Given the description of an element on the screen output the (x, y) to click on. 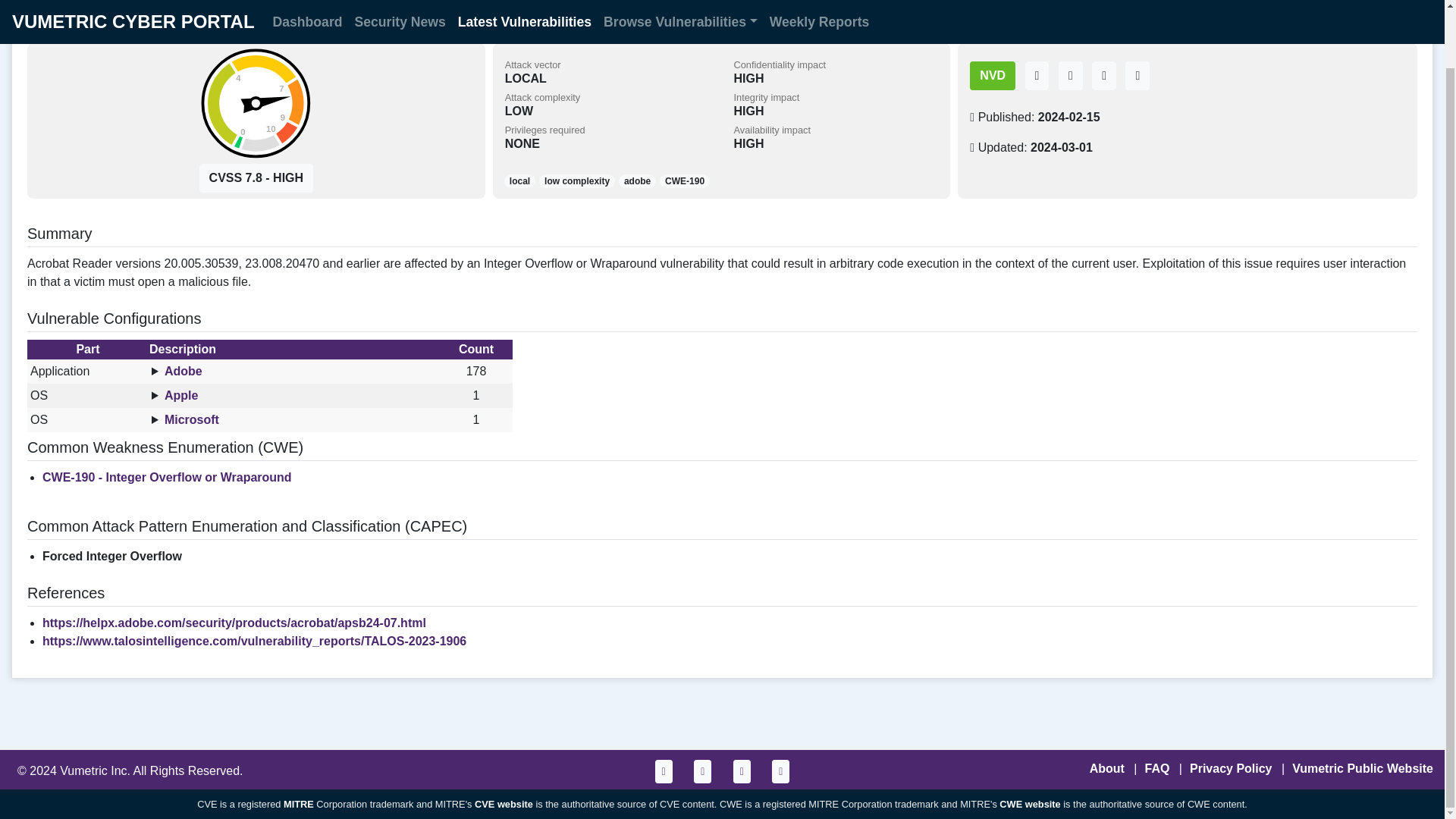
CVSS 7.8 - HIGH (256, 177)
Vulnerabilities (82, 8)
NVD (991, 75)
adobe (255, 103)
CWE-190 (637, 179)
Adobe (684, 179)
